Given the description of an element on the screen output the (x, y) to click on. 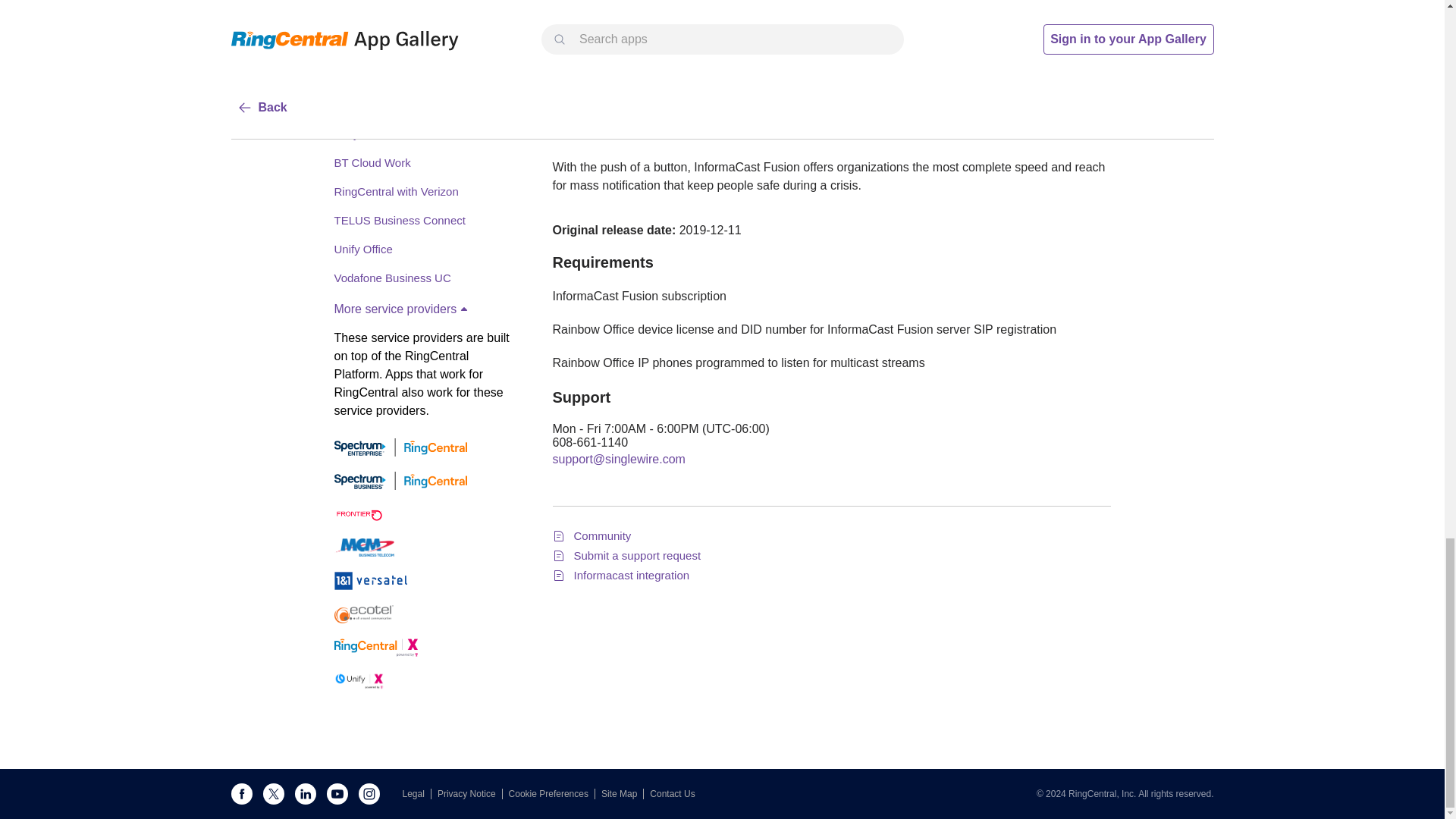
Vodafone Business UC (391, 277)
BT Cloud Work (371, 162)
TELUS Business Connect (398, 219)
Unify Office (362, 248)
RingCentral (363, 75)
More service providers (402, 308)
Submit a support request (636, 554)
RingCentral with Verizon (395, 191)
Avaya Cloud Office (381, 133)
Community (601, 535)
